Given the description of an element on the screen output the (x, y) to click on. 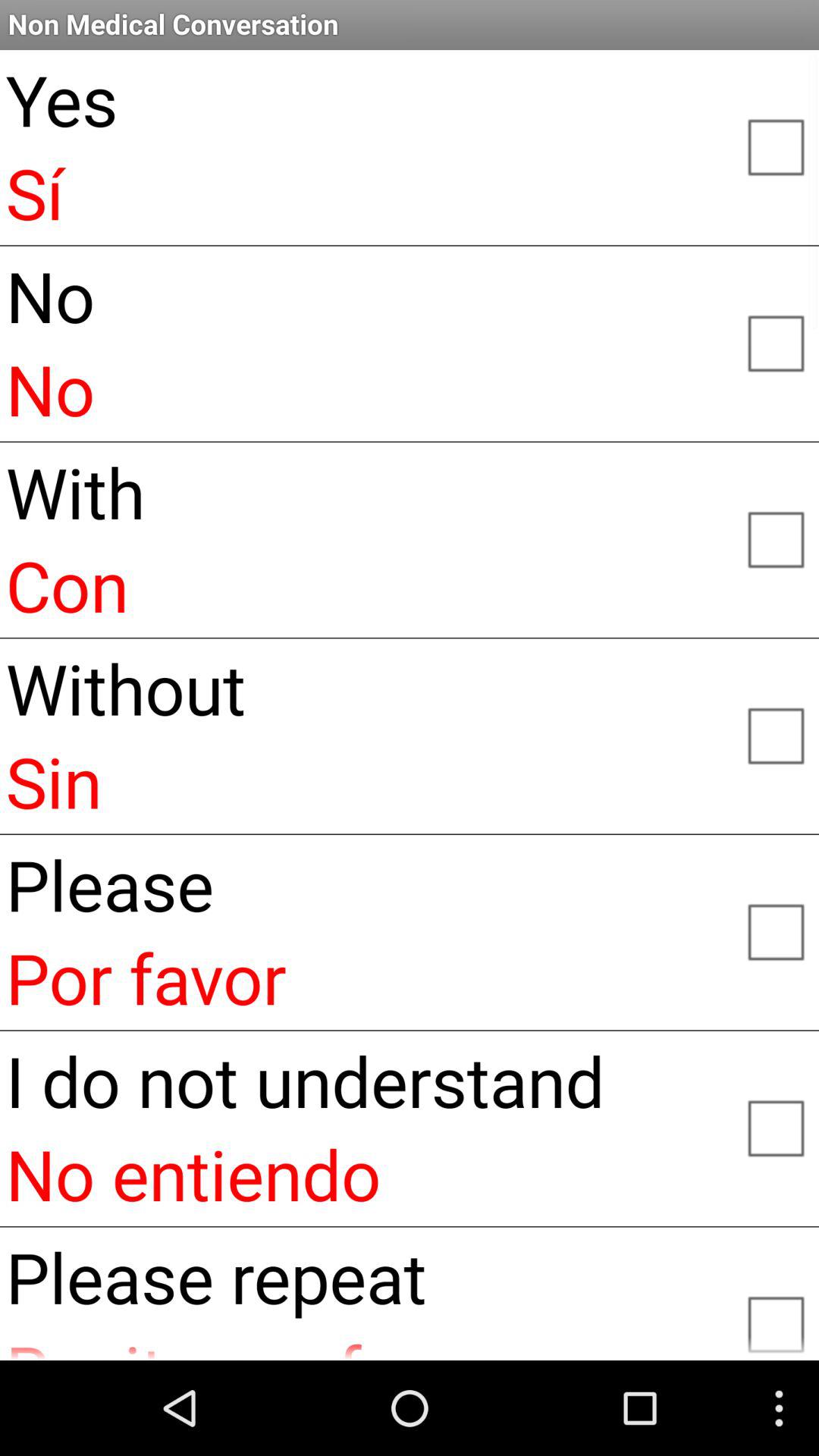
switch no (775, 342)
